Given the description of an element on the screen output the (x, y) to click on. 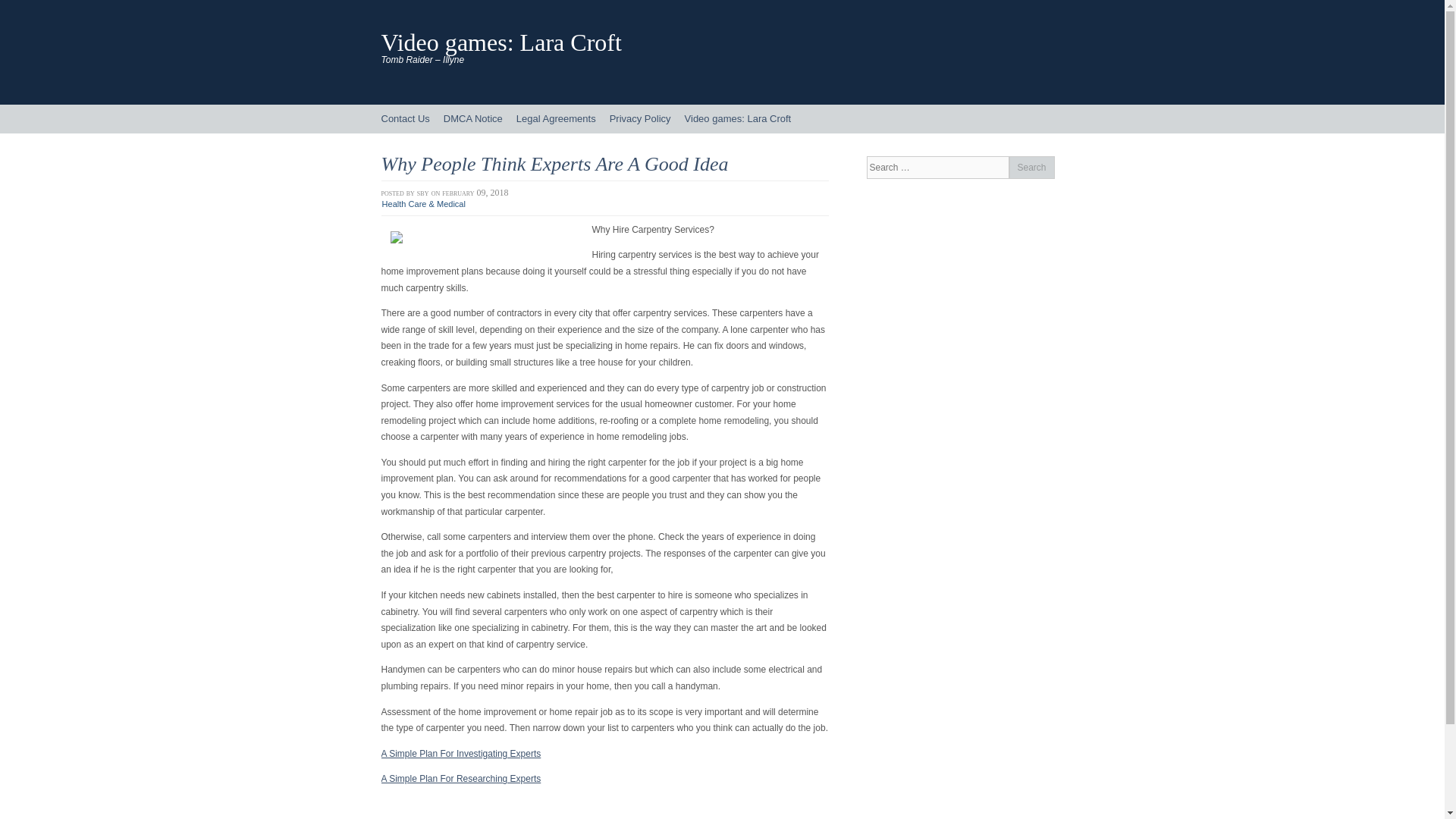
Why People Think Experts Are A Good Idea (554, 164)
DMCA Notice (473, 118)
Contact Us (404, 118)
A Simple Plan For Investigating Experts (460, 753)
Video games: Lara Croft (738, 118)
Search (1031, 167)
Search (1031, 167)
Legal Agreements (555, 118)
A Simple Plan For Researching Experts (460, 778)
Search (1031, 167)
